Given the description of an element on the screen output the (x, y) to click on. 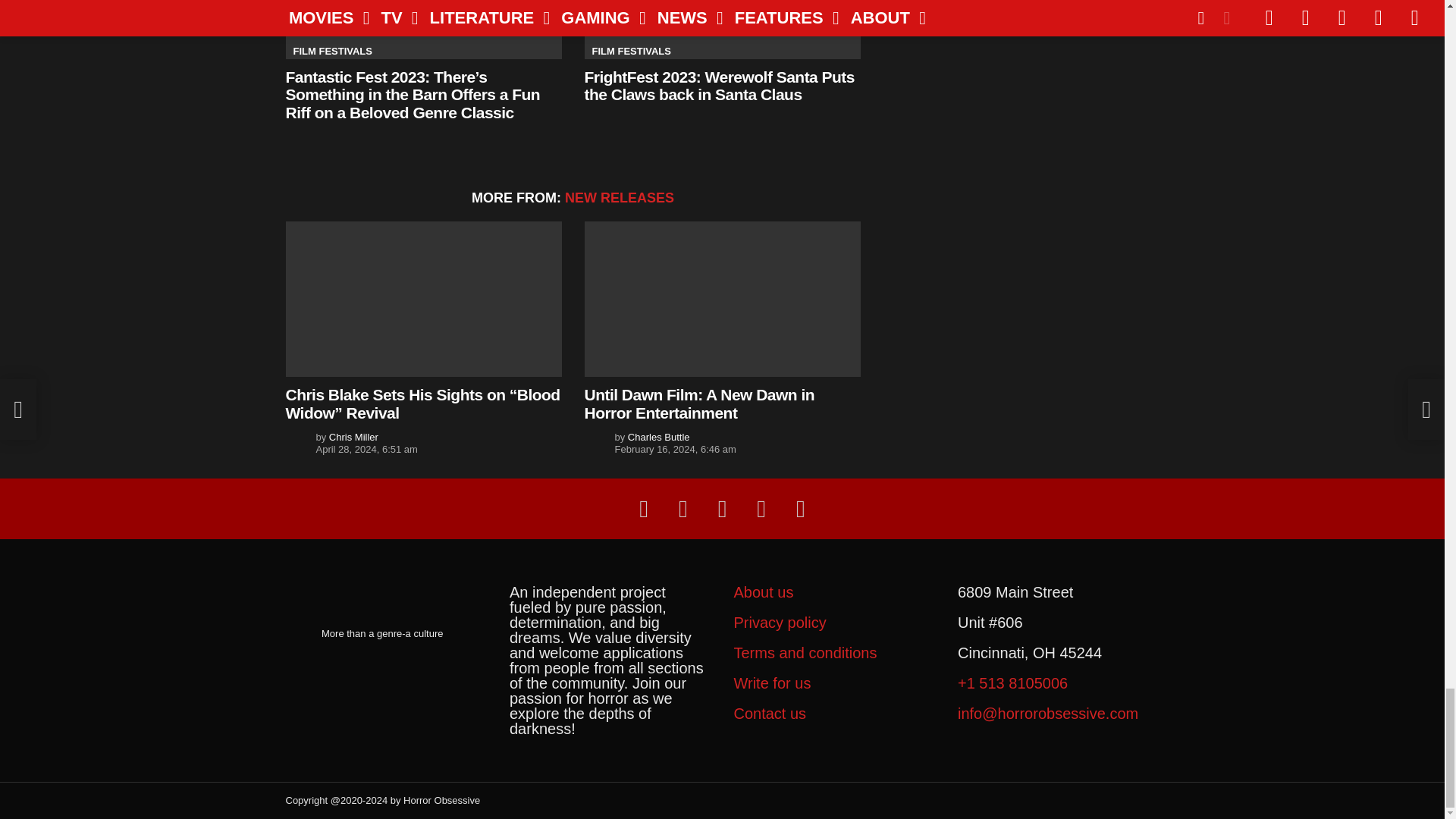
Until Dawn Film: A New Dawn in Horror Entertainment (721, 298)
Posts by Chris Miller (353, 437)
Posts by Charles Buttle (658, 437)
